Given the description of an element on the screen output the (x, y) to click on. 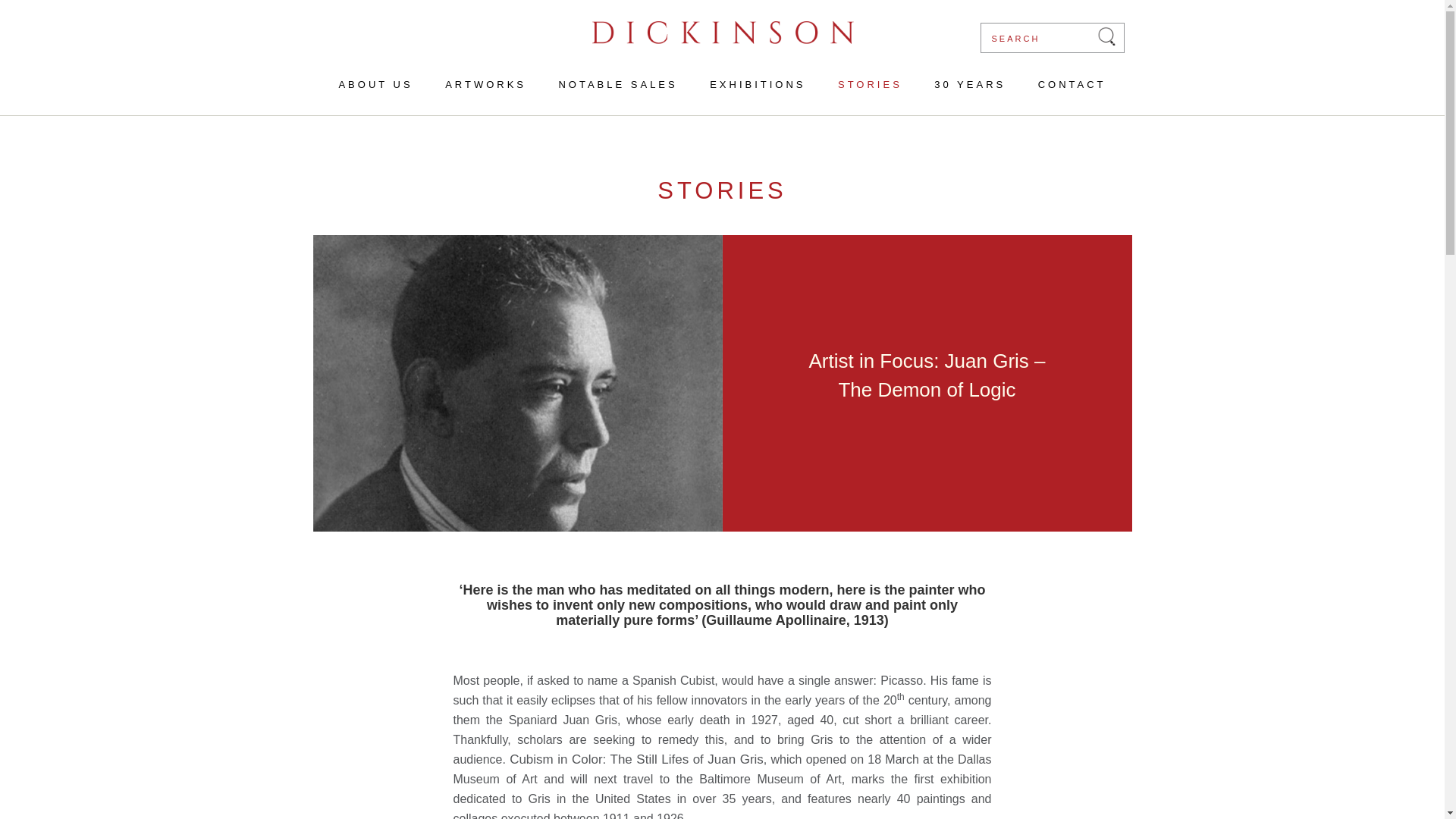
ABOUT US (381, 85)
ARTWORKS (485, 85)
NOTABLE SALES (617, 85)
Open Contact  (1064, 85)
Open Exhibitions  (757, 85)
STORIES (870, 85)
Open Insights  (870, 85)
Open about us  (381, 85)
Open Artworks  (485, 85)
Open 25 Years  (970, 85)
EXHIBITIONS (757, 85)
Submit (1105, 35)
30 YEARS (970, 85)
CONTACT (1064, 85)
